Given the description of an element on the screen output the (x, y) to click on. 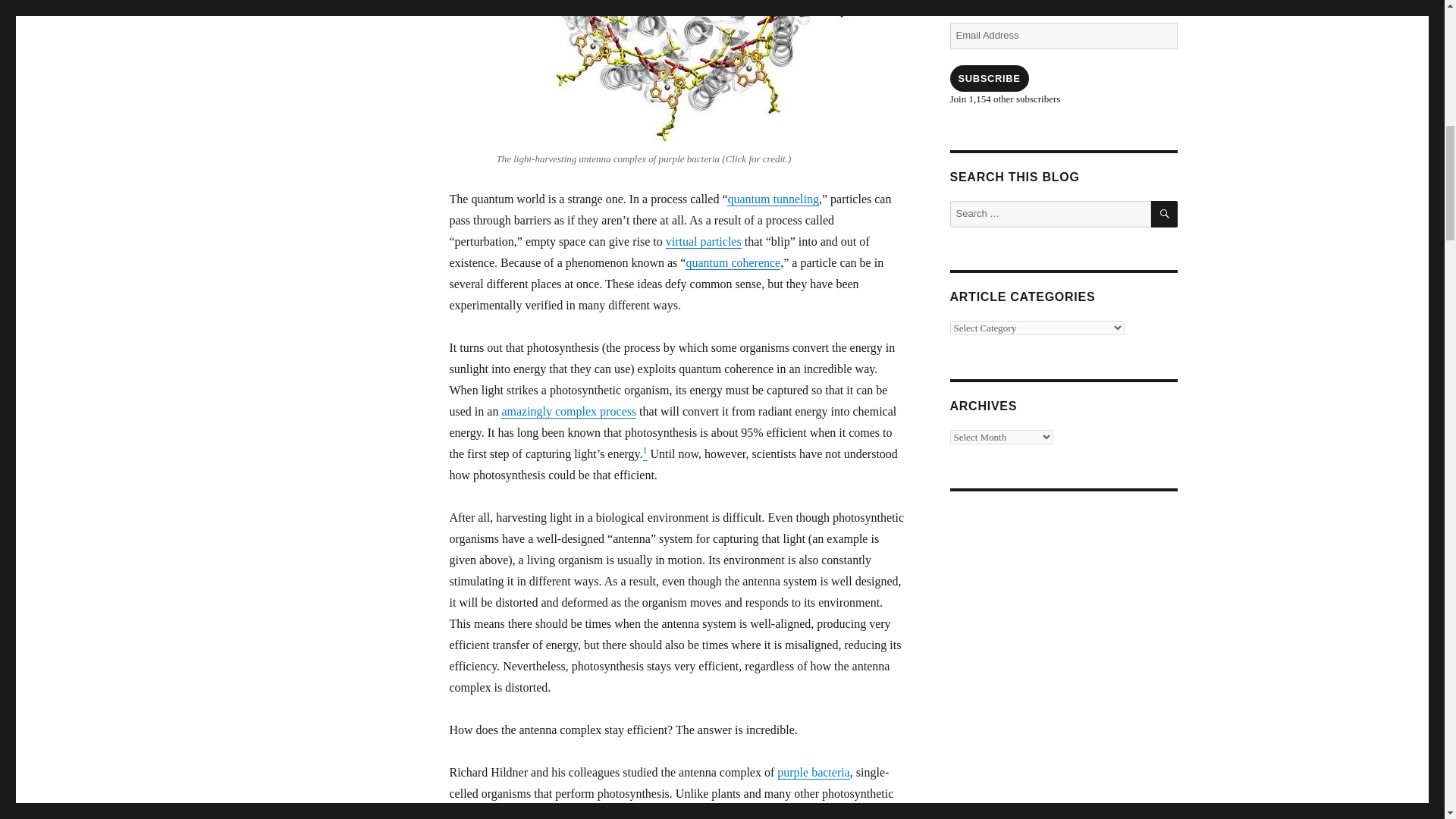
quantum tunneling (772, 198)
amazingly complex process (568, 410)
virtual particles (703, 241)
purple bacteria (813, 771)
quantum coherence (732, 262)
